Given the description of an element on the screen output the (x, y) to click on. 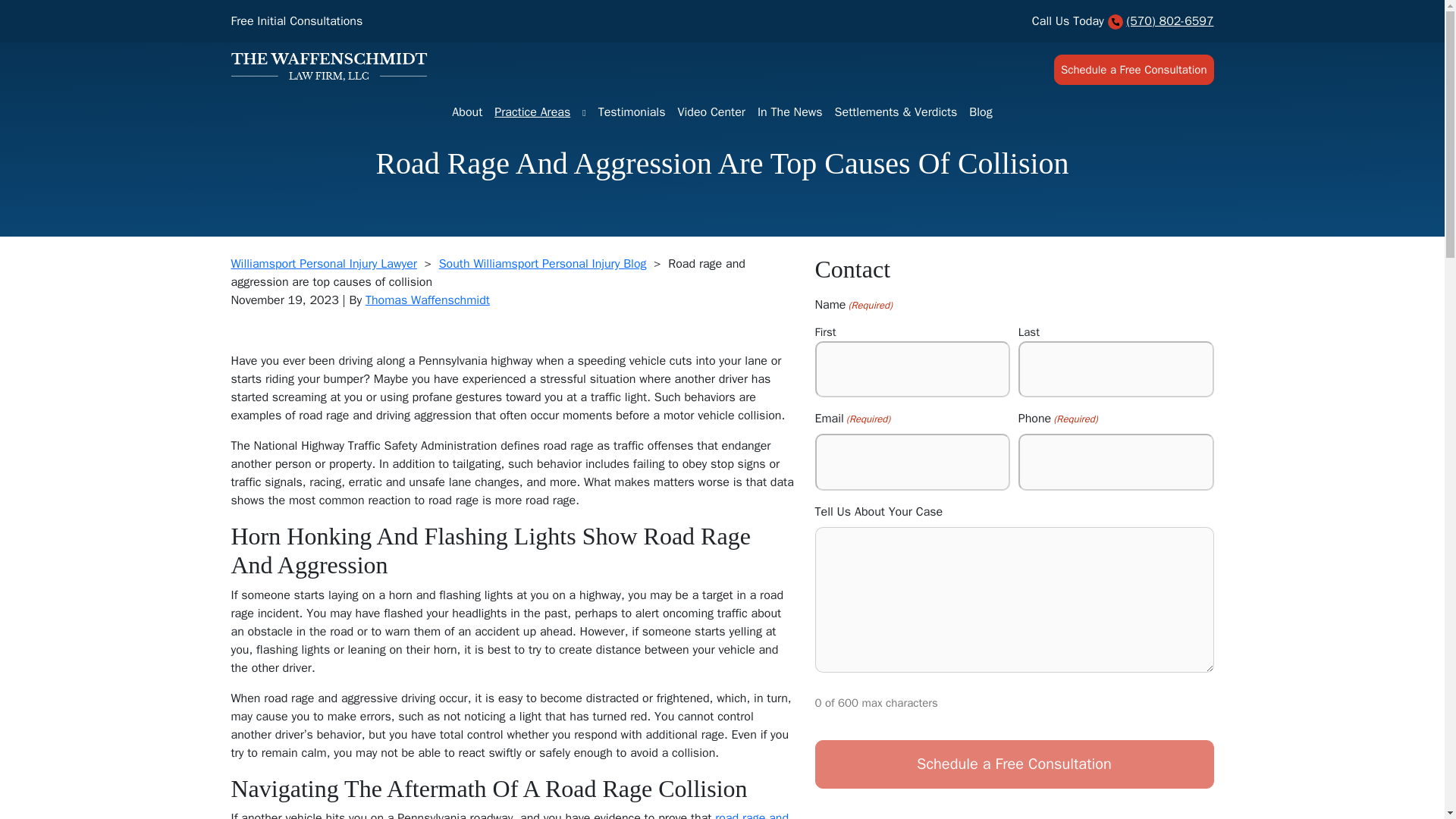
About (466, 111)
South Williamsport Personal Injury Blog (542, 263)
road rage and aggressive driving (509, 814)
Practice Areas (531, 112)
About (466, 111)
Thomas Waffenschmidt (427, 299)
In The News (789, 111)
Video Center (711, 111)
Schedule a Free Consultation (1134, 69)
Testimonials (631, 111)
